Given the description of an element on the screen output the (x, y) to click on. 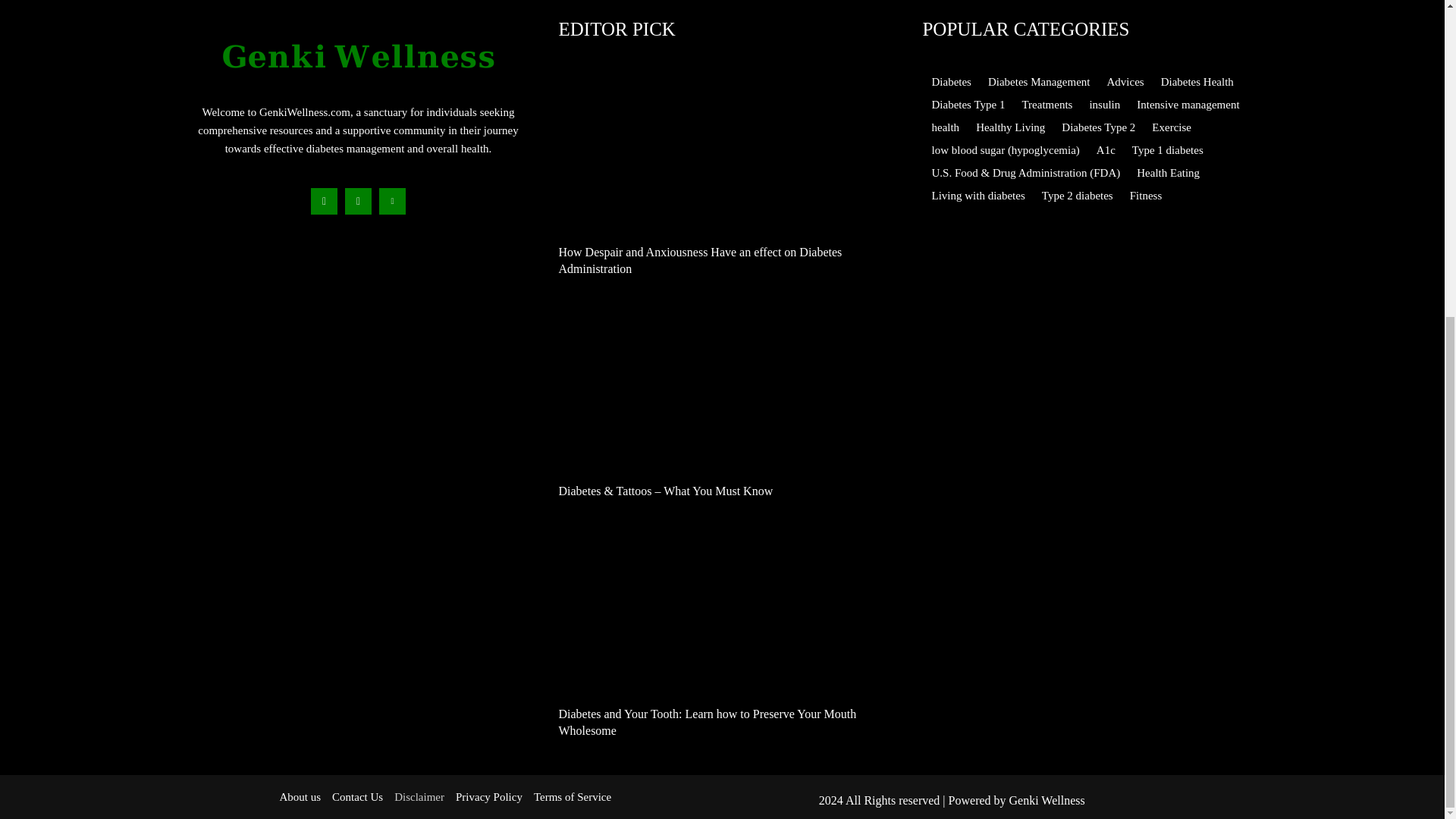
Facebook (324, 201)
Twitter (392, 201)
Instagram (358, 201)
